Given the description of an element on the screen output the (x, y) to click on. 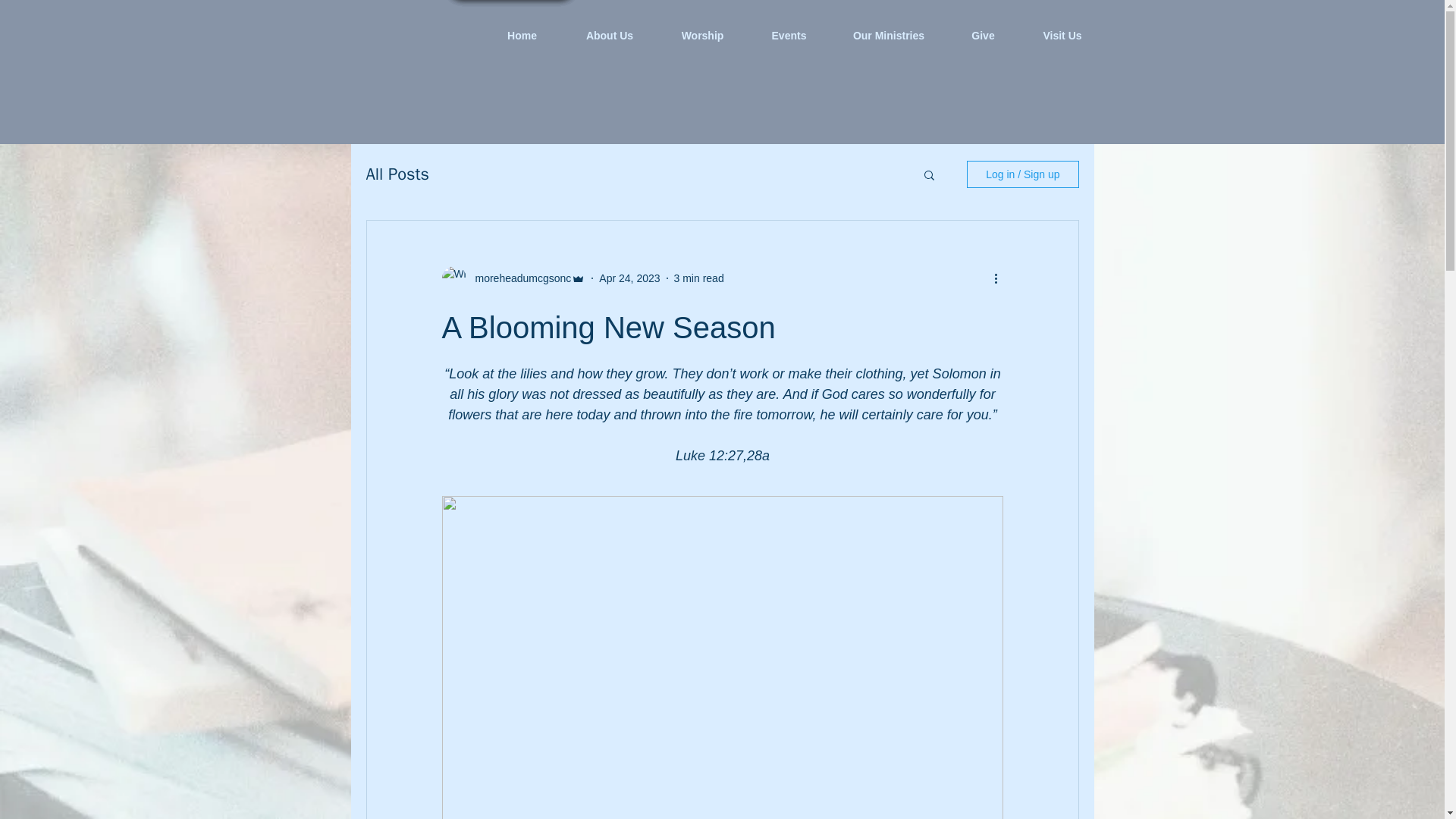
Home (520, 35)
About Us (610, 35)
moreheadumcgsonc (517, 277)
3 min read (698, 277)
Apr 24, 2023 (628, 277)
Worship (703, 35)
All Posts (397, 173)
Events (788, 35)
Give (983, 35)
Our Ministries (889, 35)
Visit Us (1062, 35)
